Given the description of an element on the screen output the (x, y) to click on. 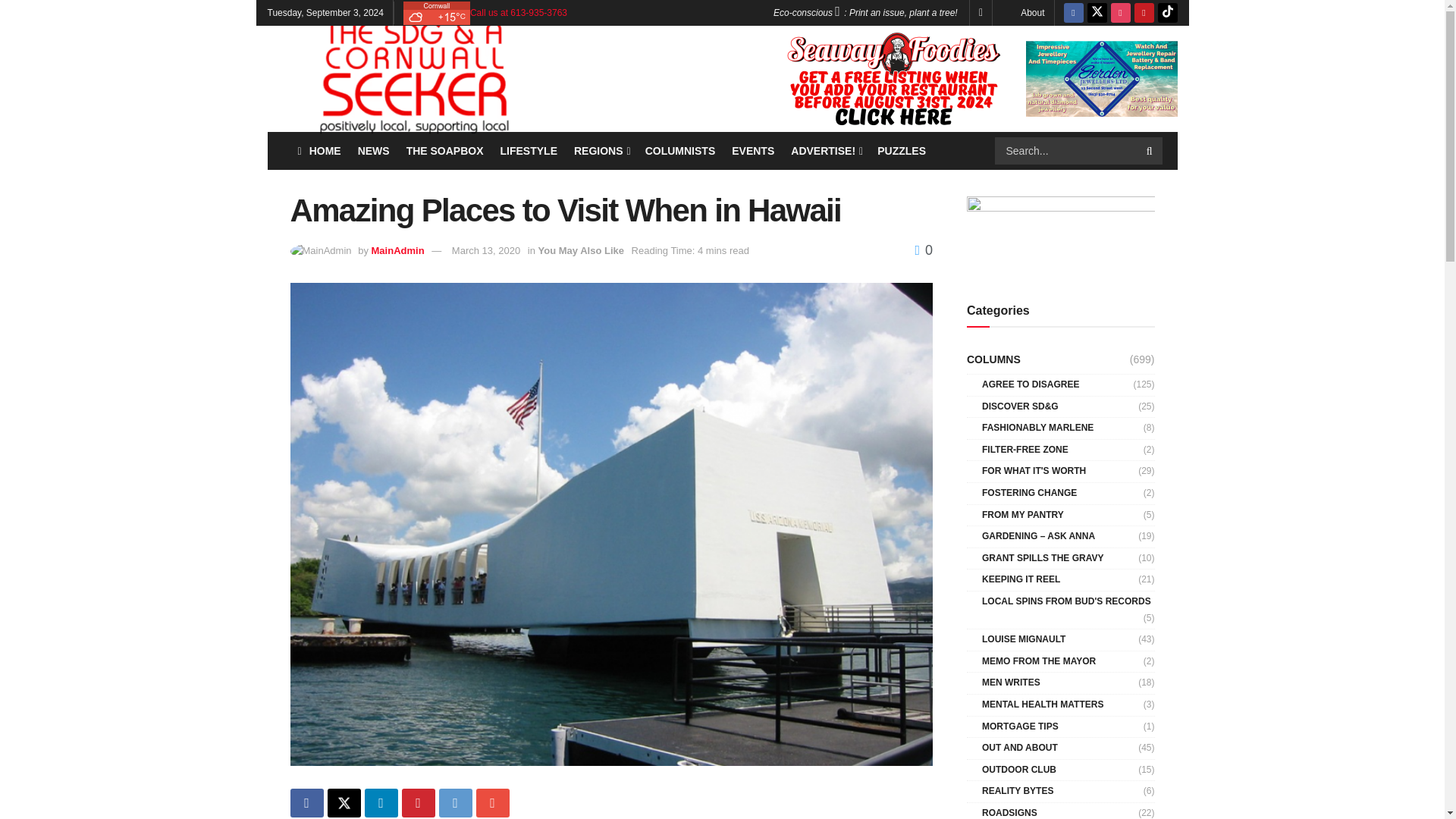
PUZZLES (901, 150)
THE SOAPBOX (444, 150)
COLUMNISTS (680, 150)
NEWS (374, 150)
About (1031, 12)
LIFESTYLE (528, 150)
EVENTS (753, 150)
REGIONS (600, 150)
ADVERTISE! (825, 150)
Call us at 613-935-3763 (518, 12)
